Given the description of an element on the screen output the (x, y) to click on. 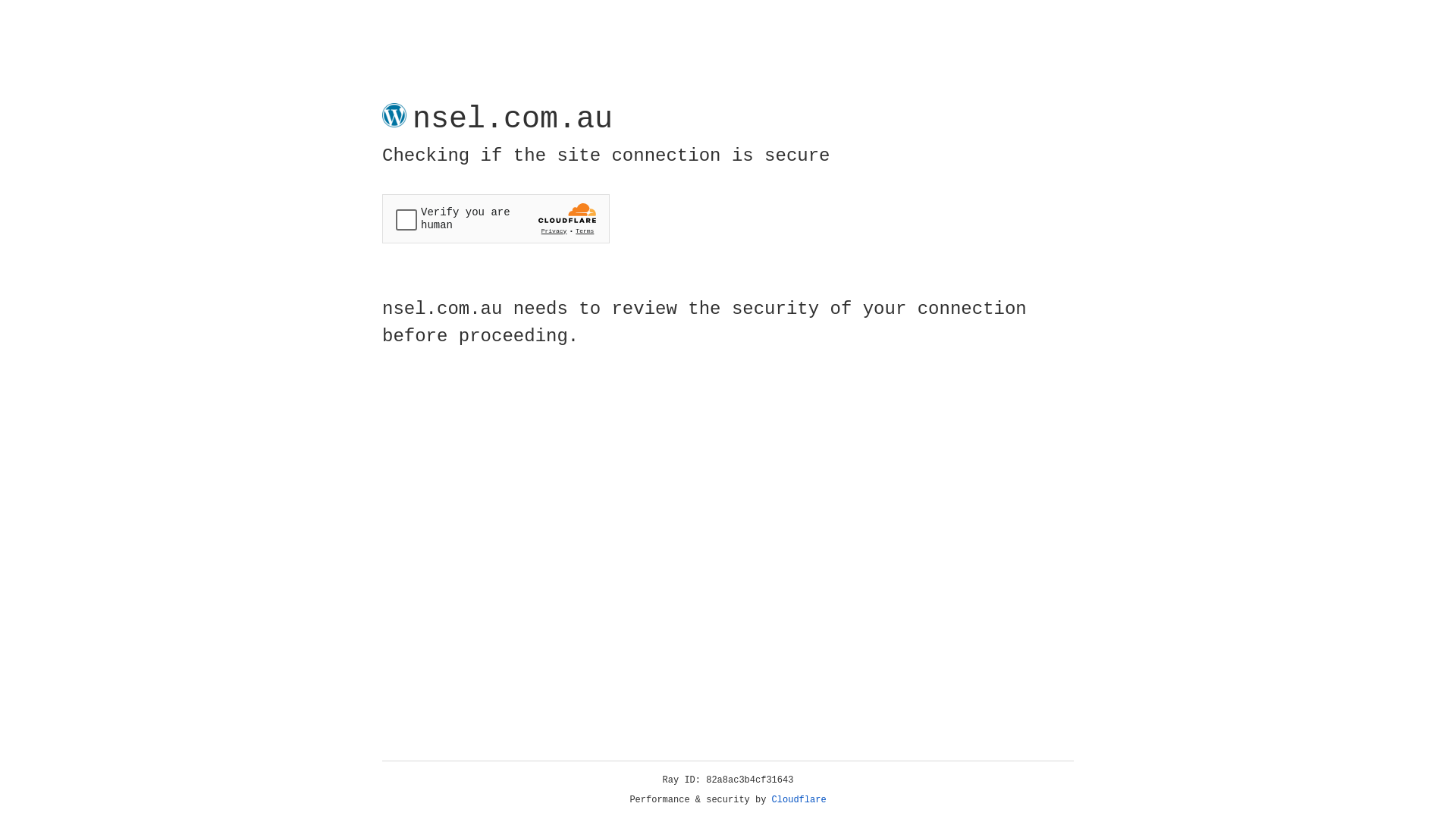
Cloudflare Element type: text (798, 799)
Widget containing a Cloudflare security challenge Element type: hover (495, 218)
